Given the description of an element on the screen output the (x, y) to click on. 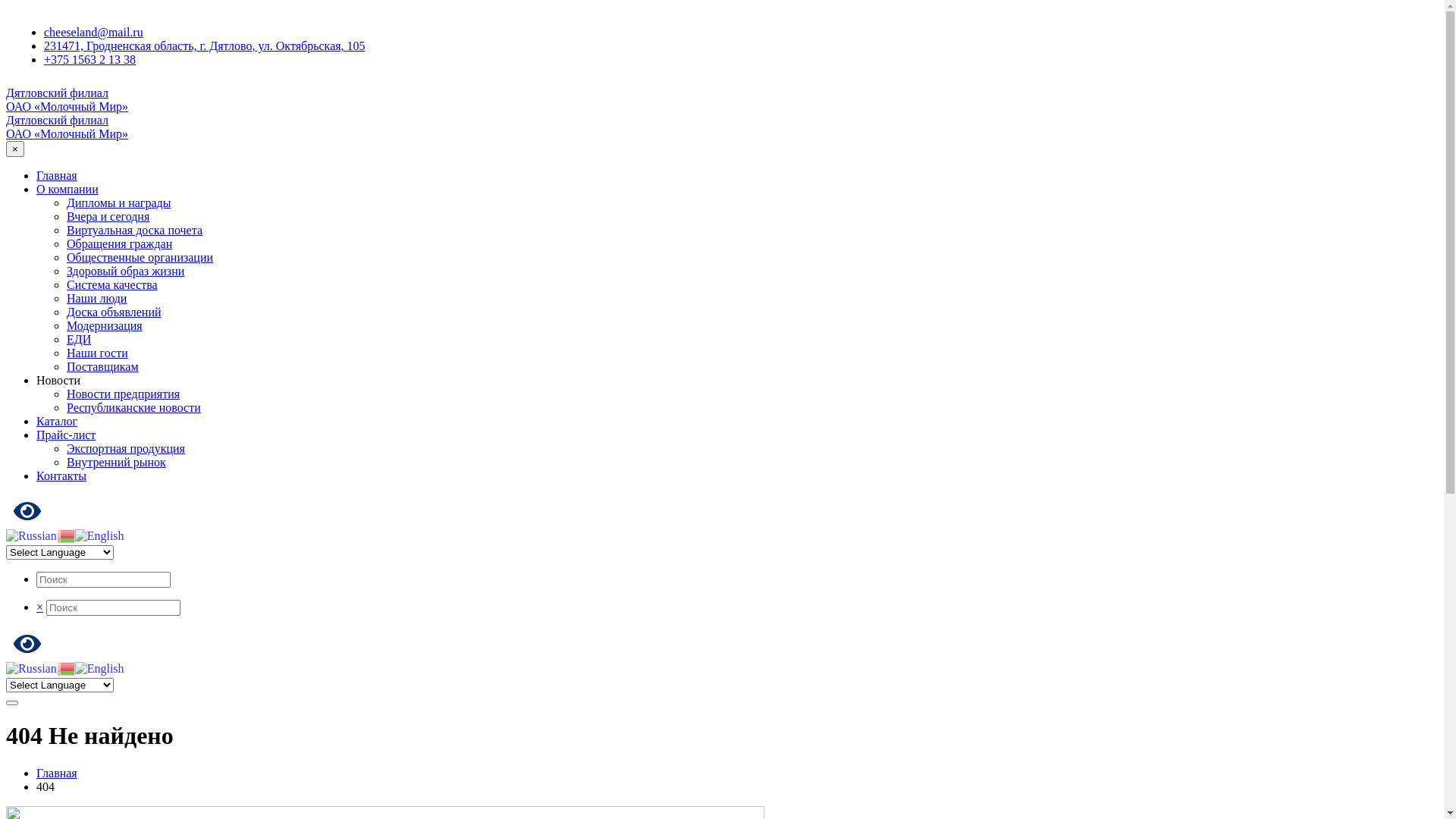
Belarusian Element type: hover (65, 667)
+375 1563 2 13 38 Element type: text (89, 59)
English Element type: hover (99, 667)
cheeseland@mail.ru Element type: text (93, 31)
Russian Element type: hover (31, 534)
Russian Element type: hover (31, 667)
Belarusian Element type: hover (65, 534)
English Element type: hover (99, 534)
